Given the description of an element on the screen output the (x, y) to click on. 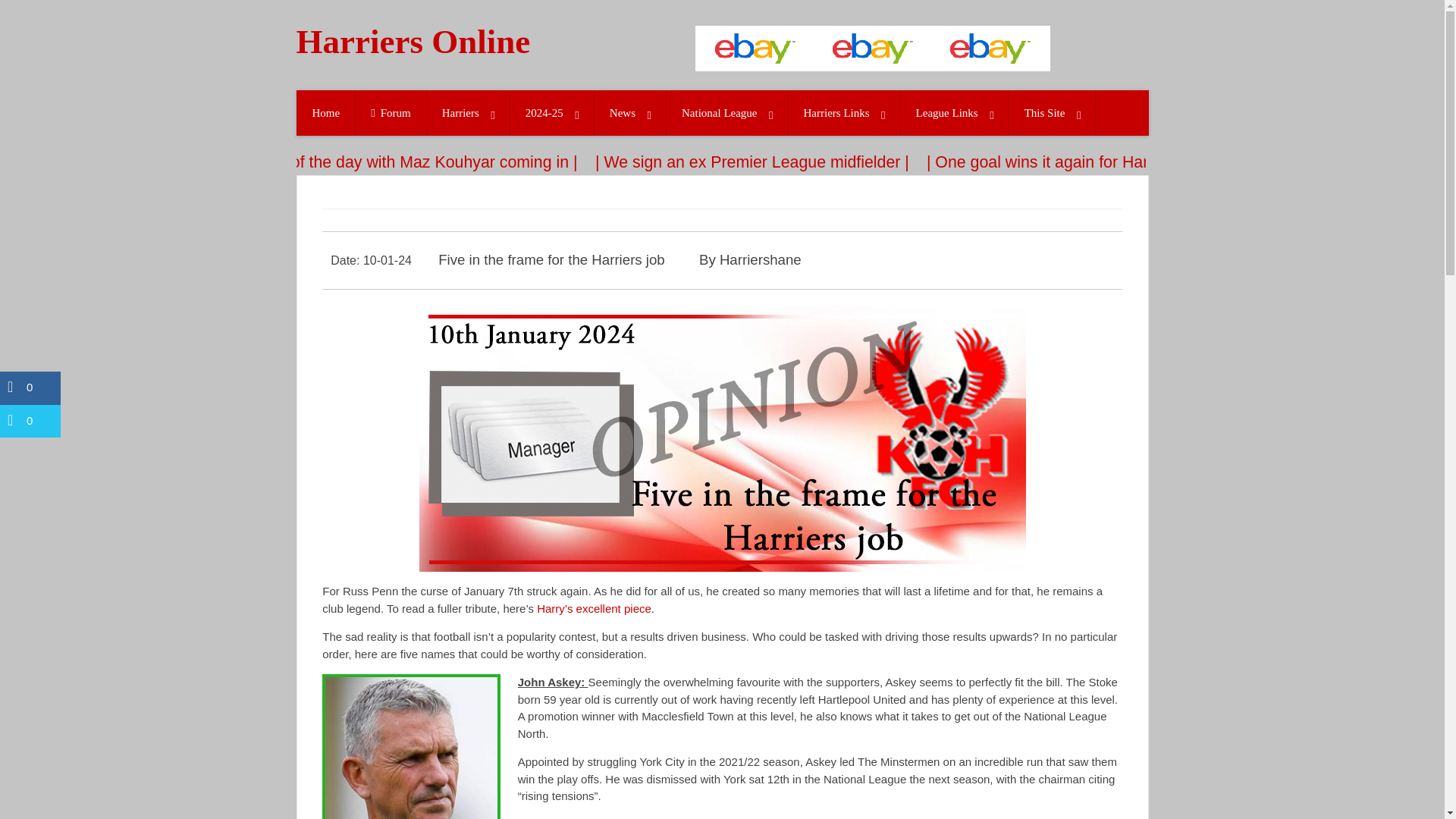
Harriers (467, 113)
News (629, 113)
2024-25 (552, 113)
Harriers Online (437, 42)
National League (726, 113)
Home (326, 113)
Harriers Online (437, 42)
Forum (390, 113)
